Given the description of an element on the screen output the (x, y) to click on. 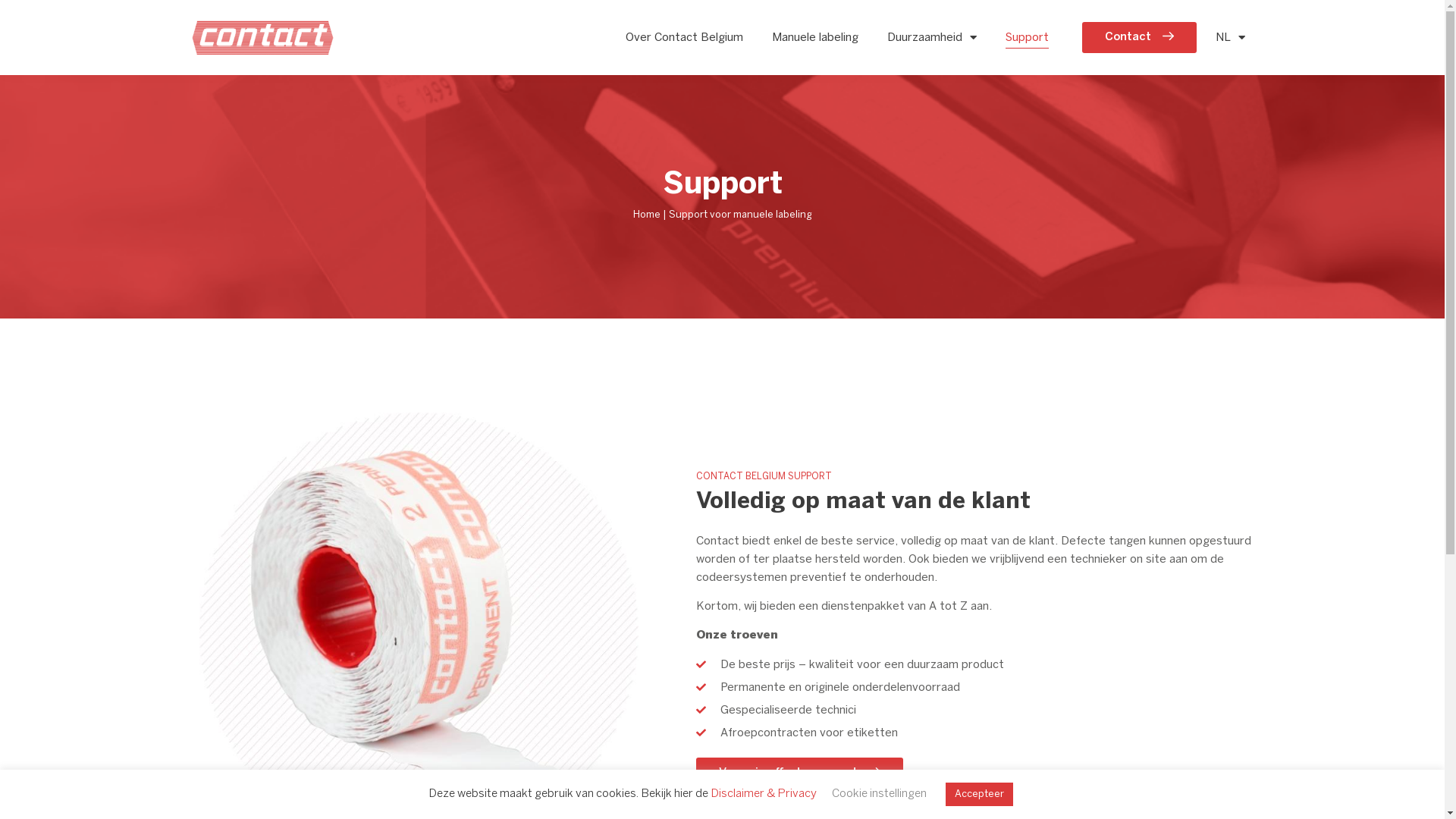
Accepteer Element type: text (978, 794)
NL Element type: text (1230, 37)
Contact Element type: text (1139, 37)
Support Element type: text (1026, 37)
Vraag je offerte op maat Element type: text (799, 772)
Over Contact Belgium Element type: text (684, 37)
Home Element type: text (645, 214)
Duurzaamheid Element type: text (931, 37)
Cookie instellingen Element type: text (878, 793)
Manuele labeling Element type: text (814, 37)
Disclaimer & Privacy Element type: text (762, 793)
